Given the description of an element on the screen output the (x, y) to click on. 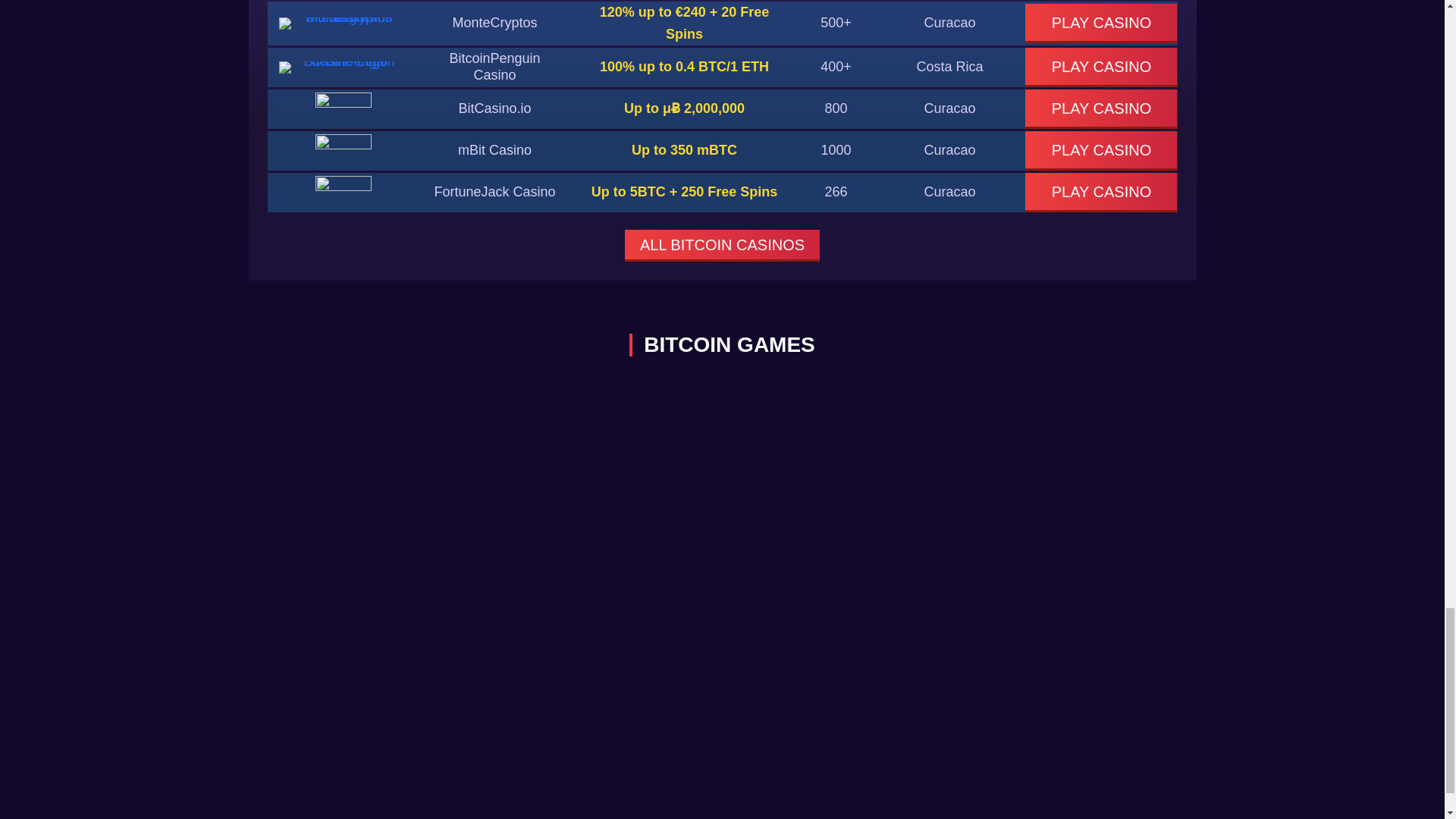
FortuneJack Casino (493, 191)
ALL BITCOIN CASINOS (721, 245)
MonteCryptos (494, 22)
BitcoinPenguin Casino (494, 66)
BitCasino.io (494, 108)
mBit Casino (494, 150)
